Given the description of an element on the screen output the (x, y) to click on. 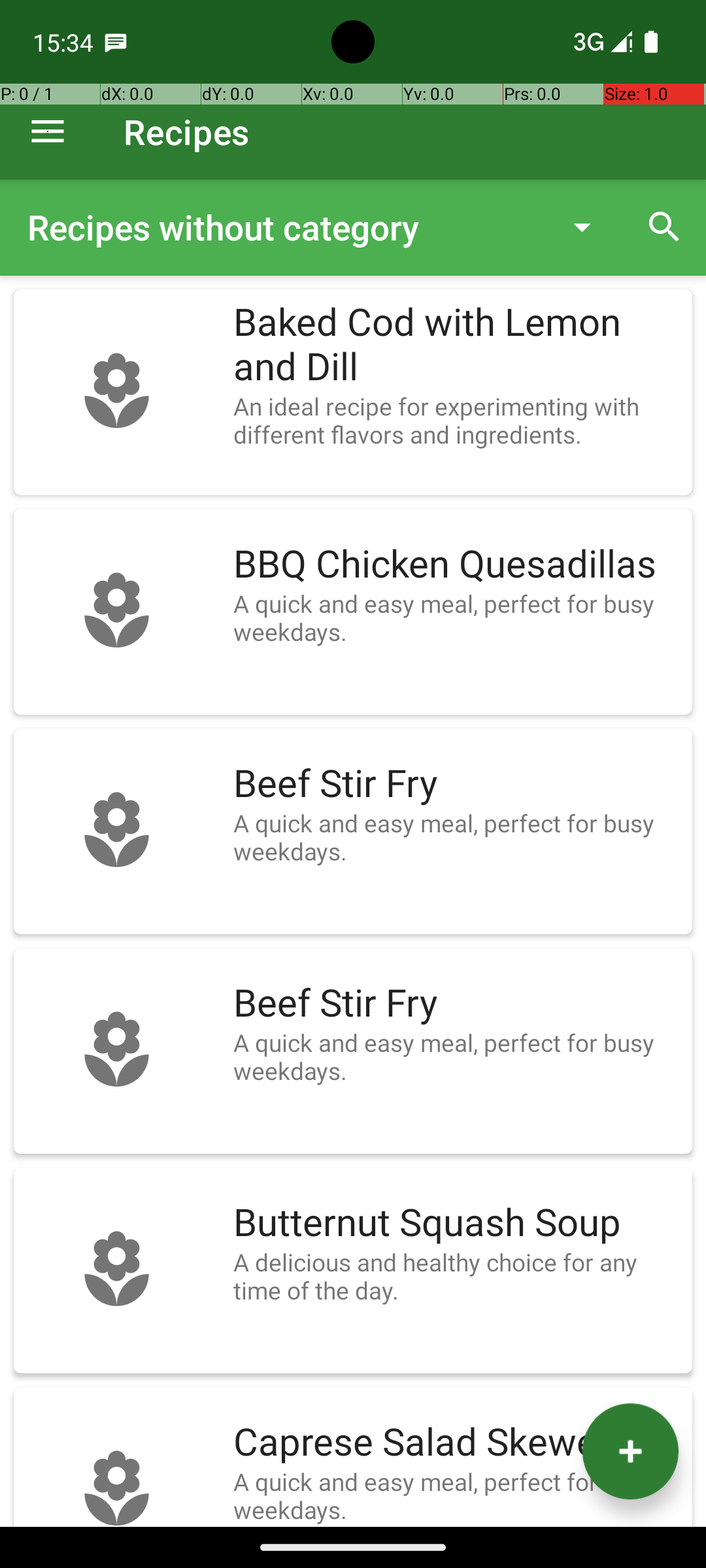
Recipes without category Element type: android.widget.TextView (283, 226)
Baked Cod with Lemon and Dill Element type: android.widget.TextView (455, 344)
BBQ Chicken Quesadillas Element type: android.widget.TextView (455, 564)
